Given the description of an element on the screen output the (x, y) to click on. 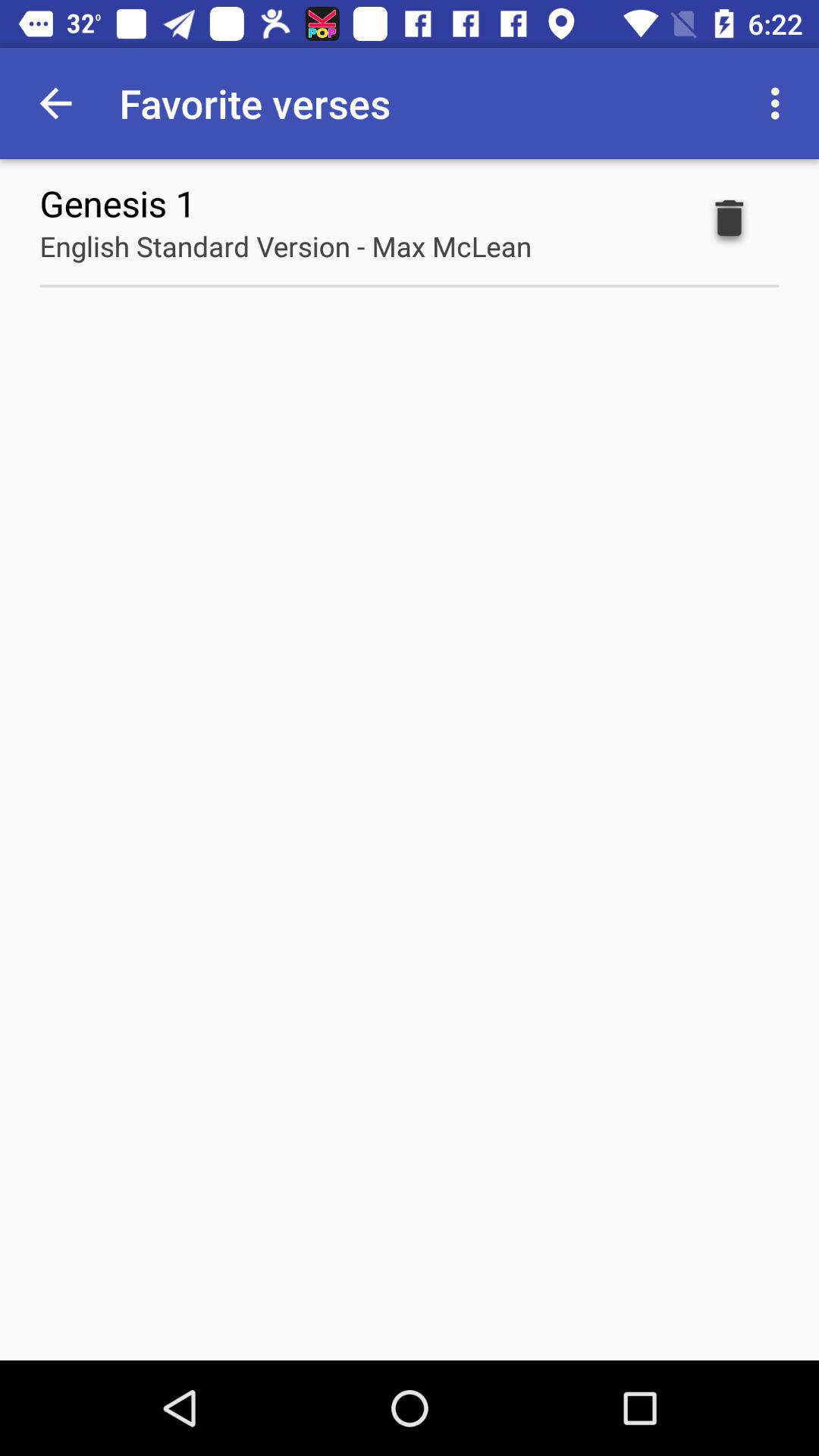
press app next to favorite verses (55, 103)
